Given the description of an element on the screen output the (x, y) to click on. 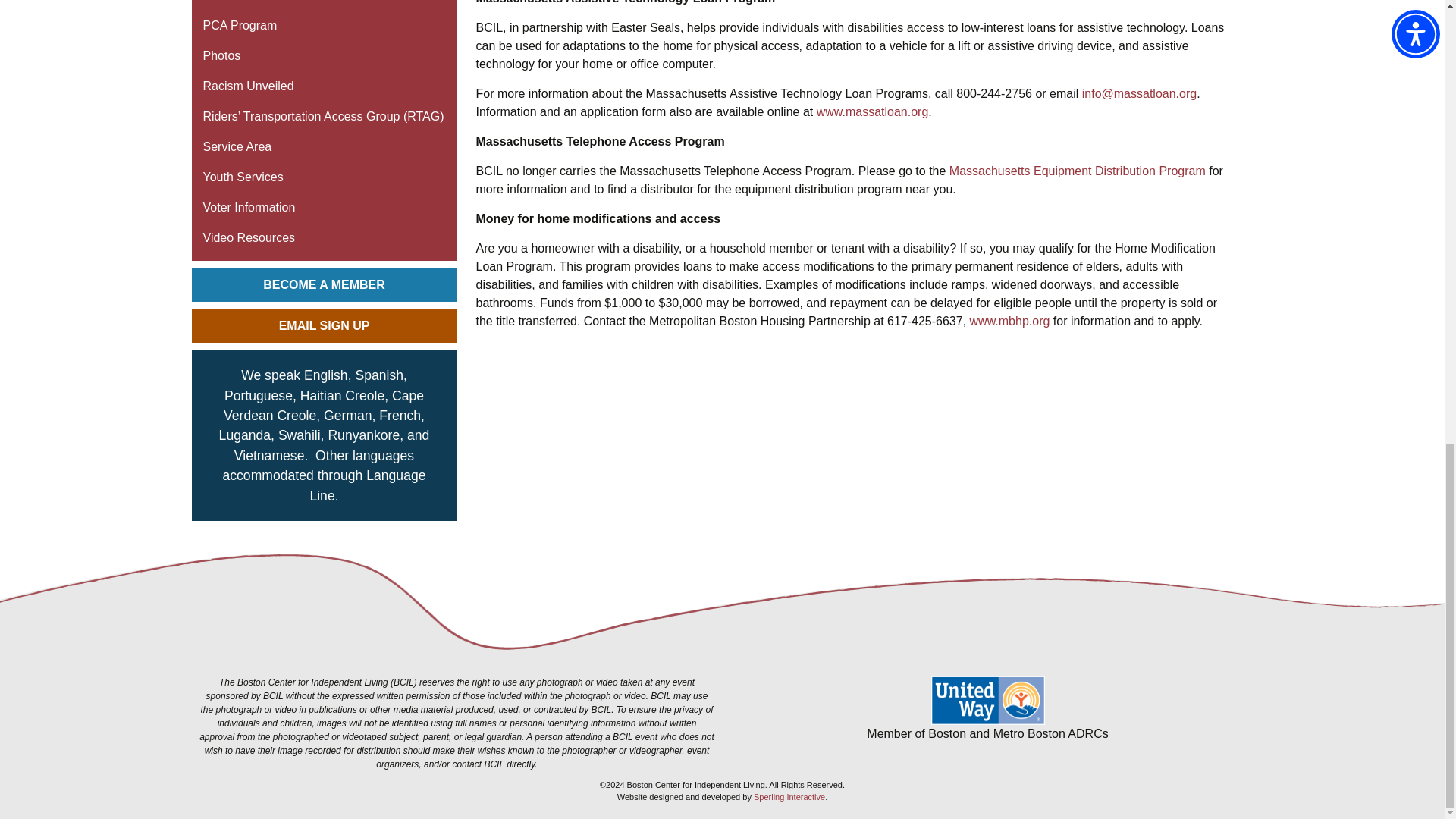
PCA Program (323, 25)
Photos (323, 55)
Online Resources (323, 5)
